Given the description of an element on the screen output the (x, y) to click on. 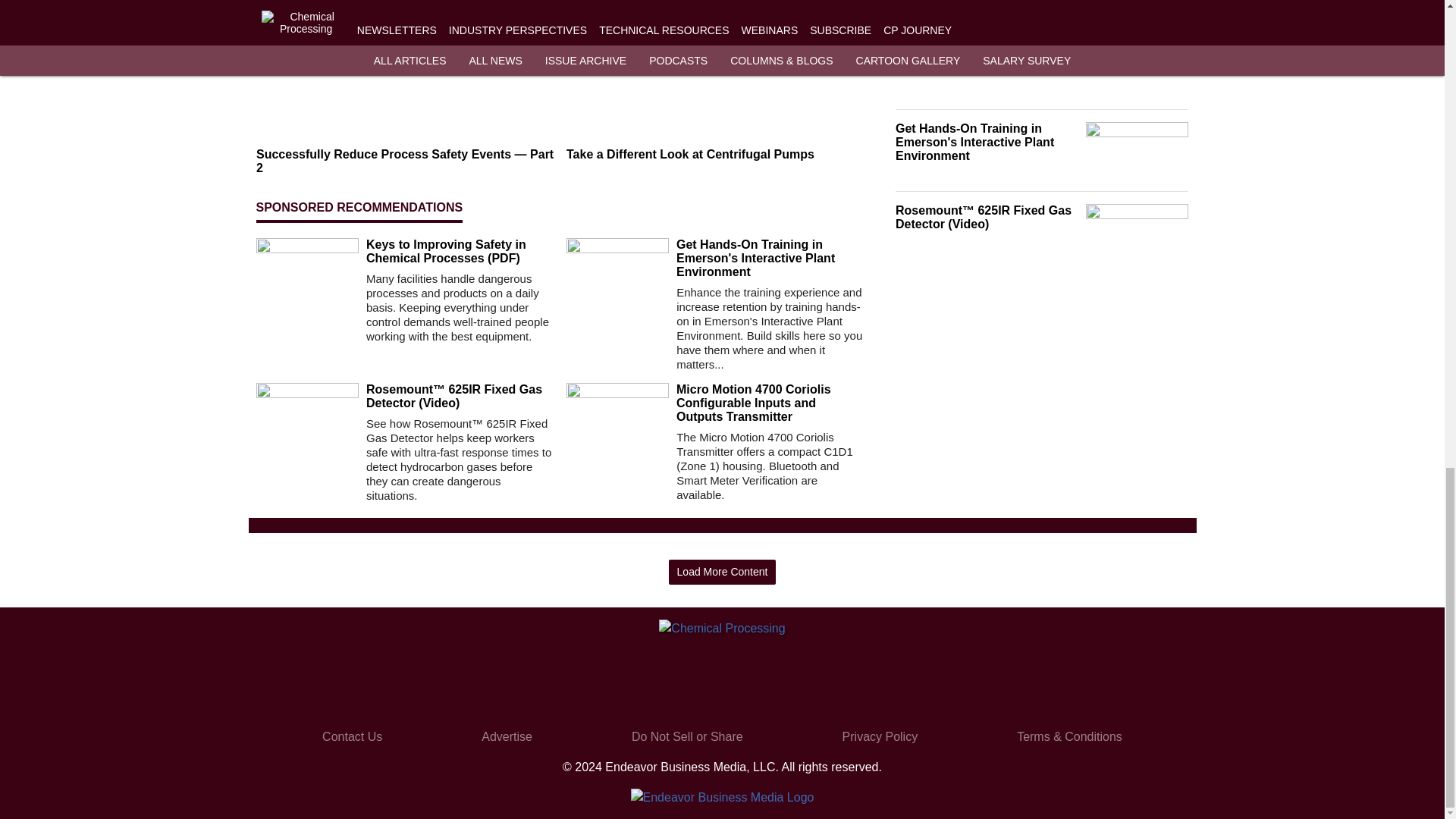
Take a Different Look at Centrifugal Pumps (715, 154)
